Given the description of an element on the screen output the (x, y) to click on. 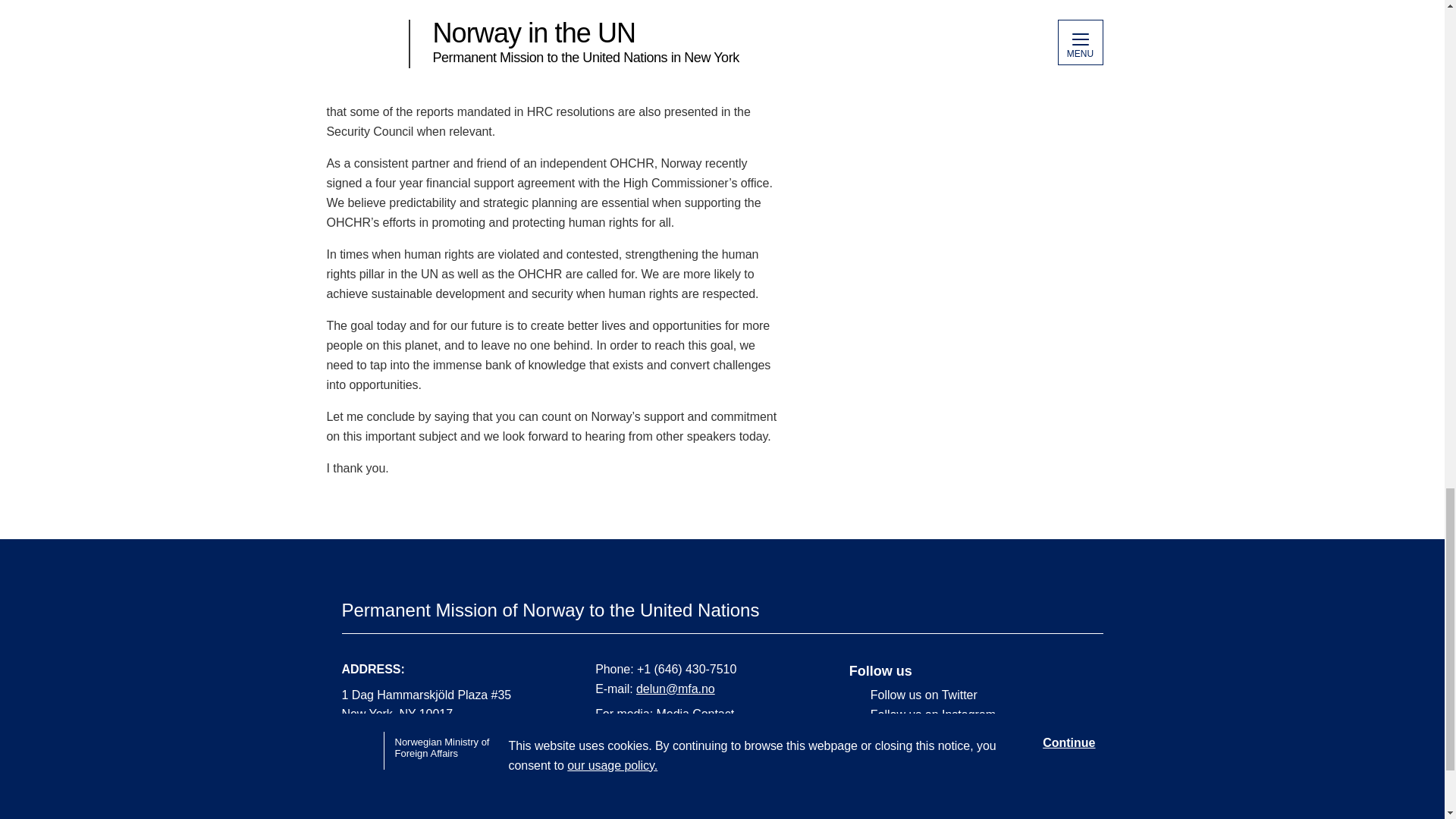
Follow us on Twitter (964, 694)
Follow us on Instagram (964, 714)
Media Contact (695, 713)
Media Contact (695, 713)
